Given the description of an element on the screen output the (x, y) to click on. 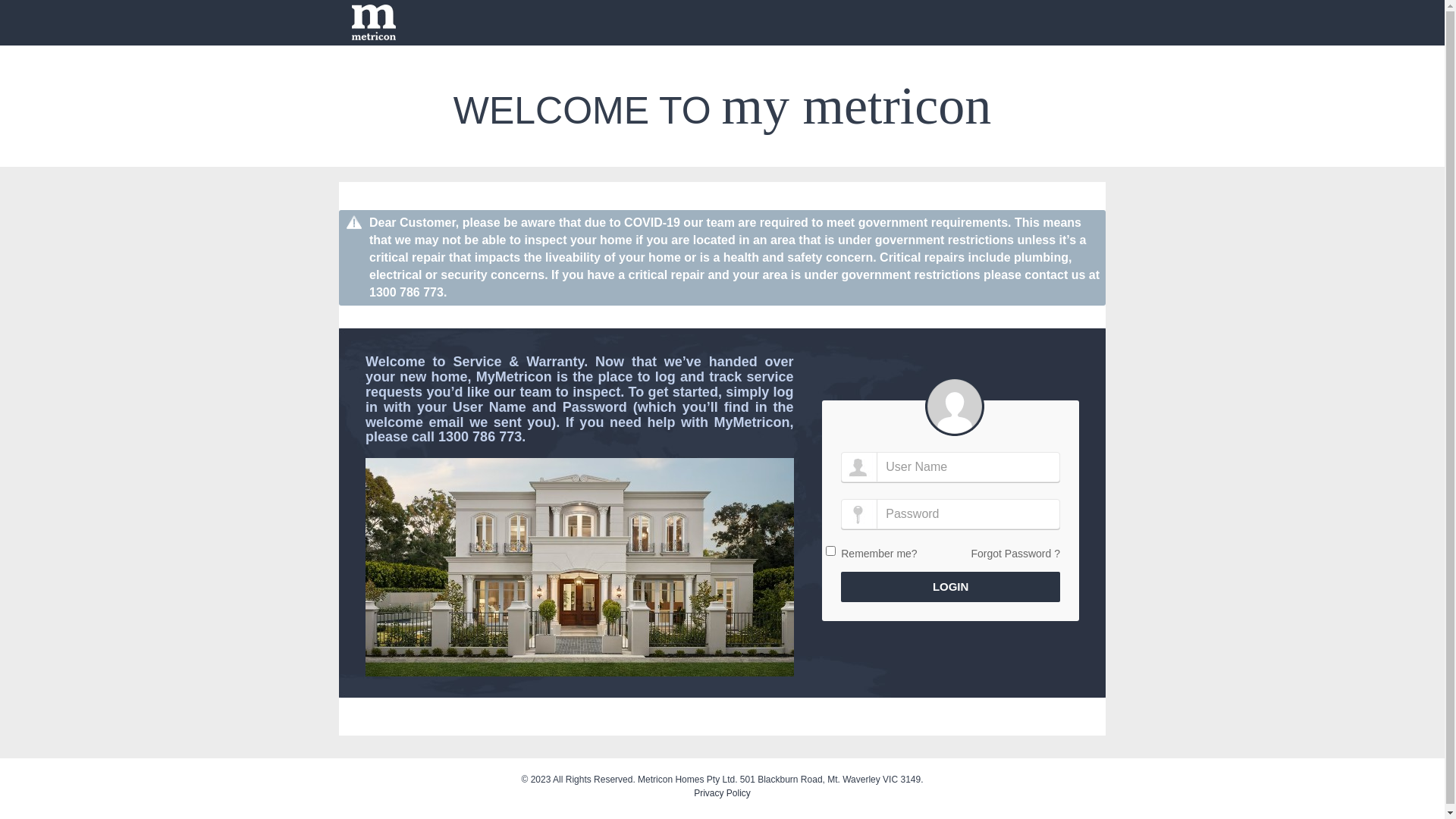
Login Element type: text (950, 586)
Remember me? Element type: text (878, 553)
Privacy Policy Element type: text (721, 792)
Forgot Password ? Element type: text (1015, 553)
